Given the description of an element on the screen output the (x, y) to click on. 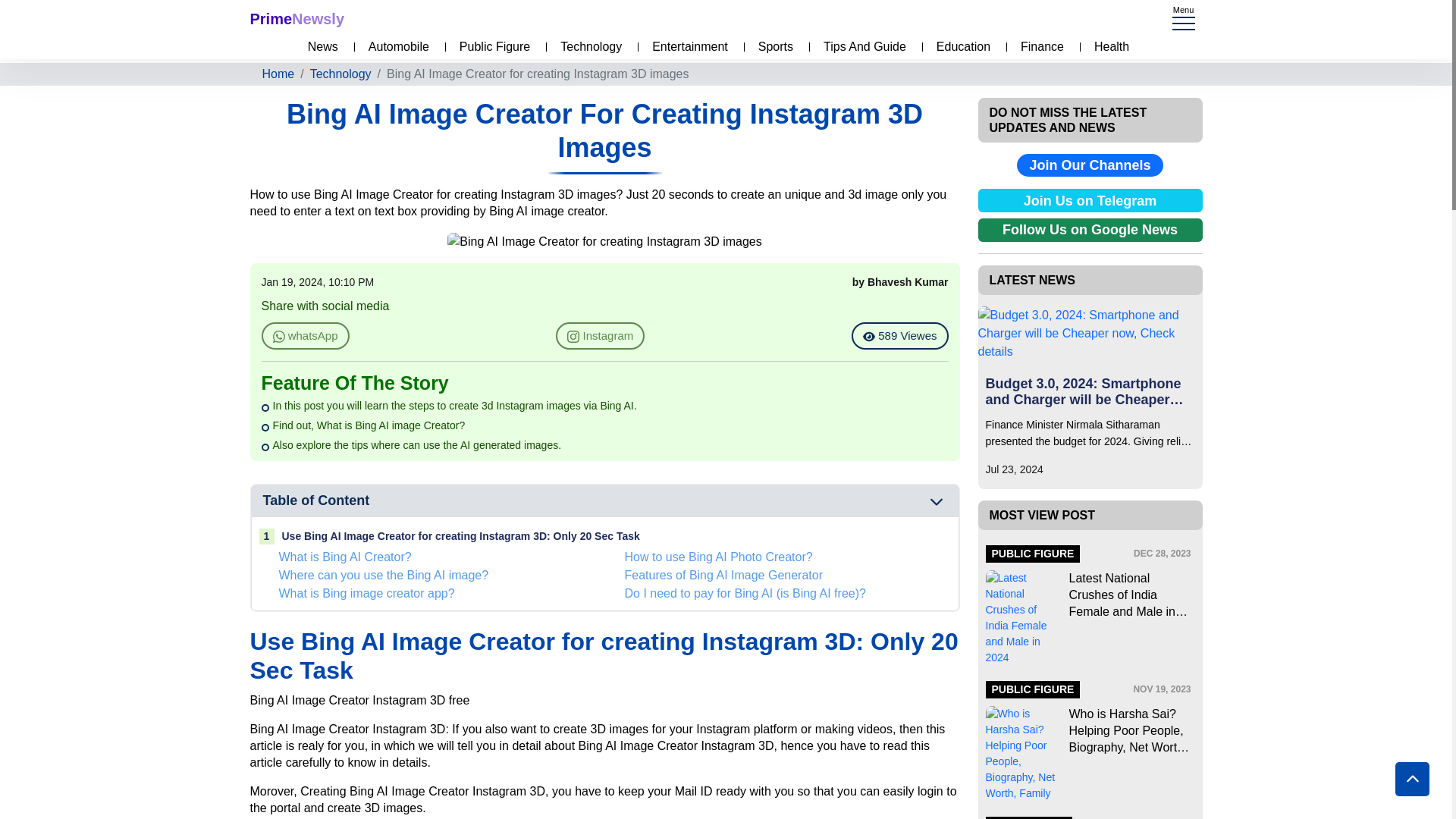
Finance (1038, 46)
Sports (772, 46)
Tips and Guide (860, 46)
Technology (587, 46)
Entertainment (686, 46)
Health (1107, 46)
Health (1107, 46)
Automobile (395, 46)
Home (278, 74)
Join Us on Telegram (1090, 200)
Instagram (600, 336)
Public Figure (490, 46)
PrimeNewsly (297, 18)
News (318, 46)
